Given the description of an element on the screen output the (x, y) to click on. 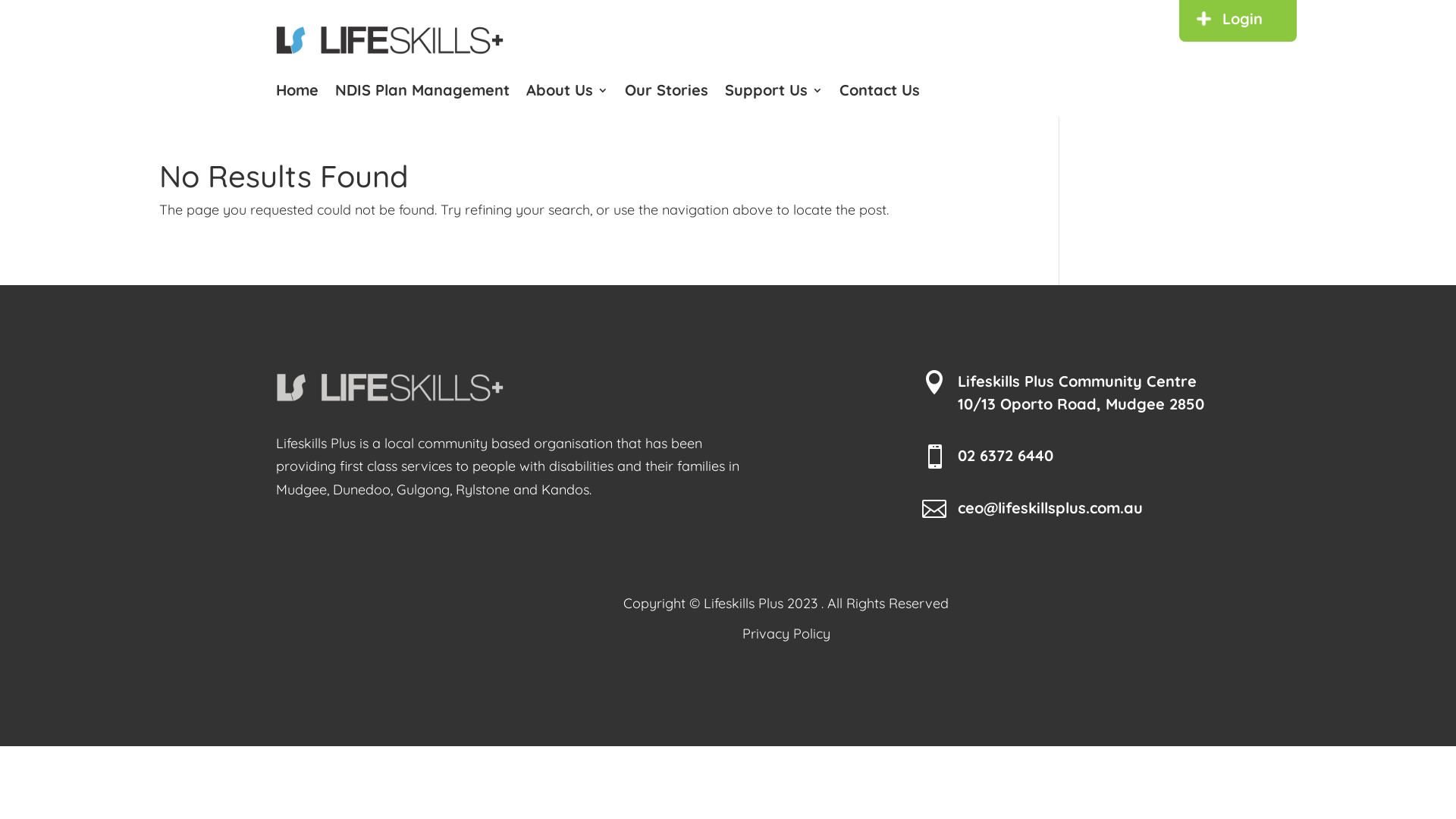
Contact Us Element type: text (879, 92)
Our Stories Element type: text (666, 92)
lifeskills plus logo Element type: hover (389, 39)
About Us Element type: text (567, 92)
Support Us Element type: text (773, 92)
lifeskills plus logo footer Element type: hover (389, 387)
Home Element type: text (297, 92)
NDIS Plan Management Element type: text (422, 92)
